Given the description of an element on the screen output the (x, y) to click on. 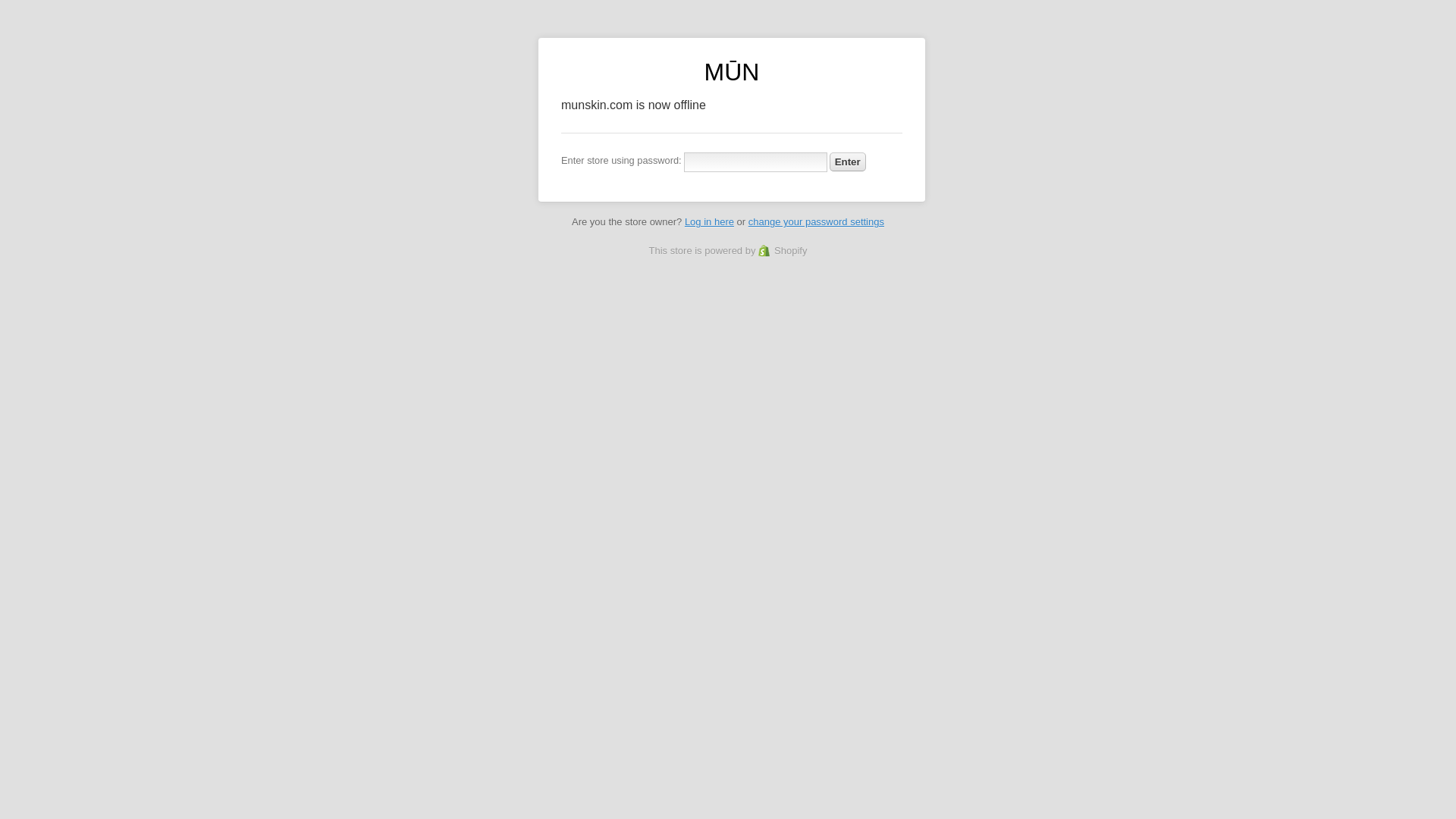
Enter (847, 161)
Enter (847, 161)
